Given the description of an element on the screen output the (x, y) to click on. 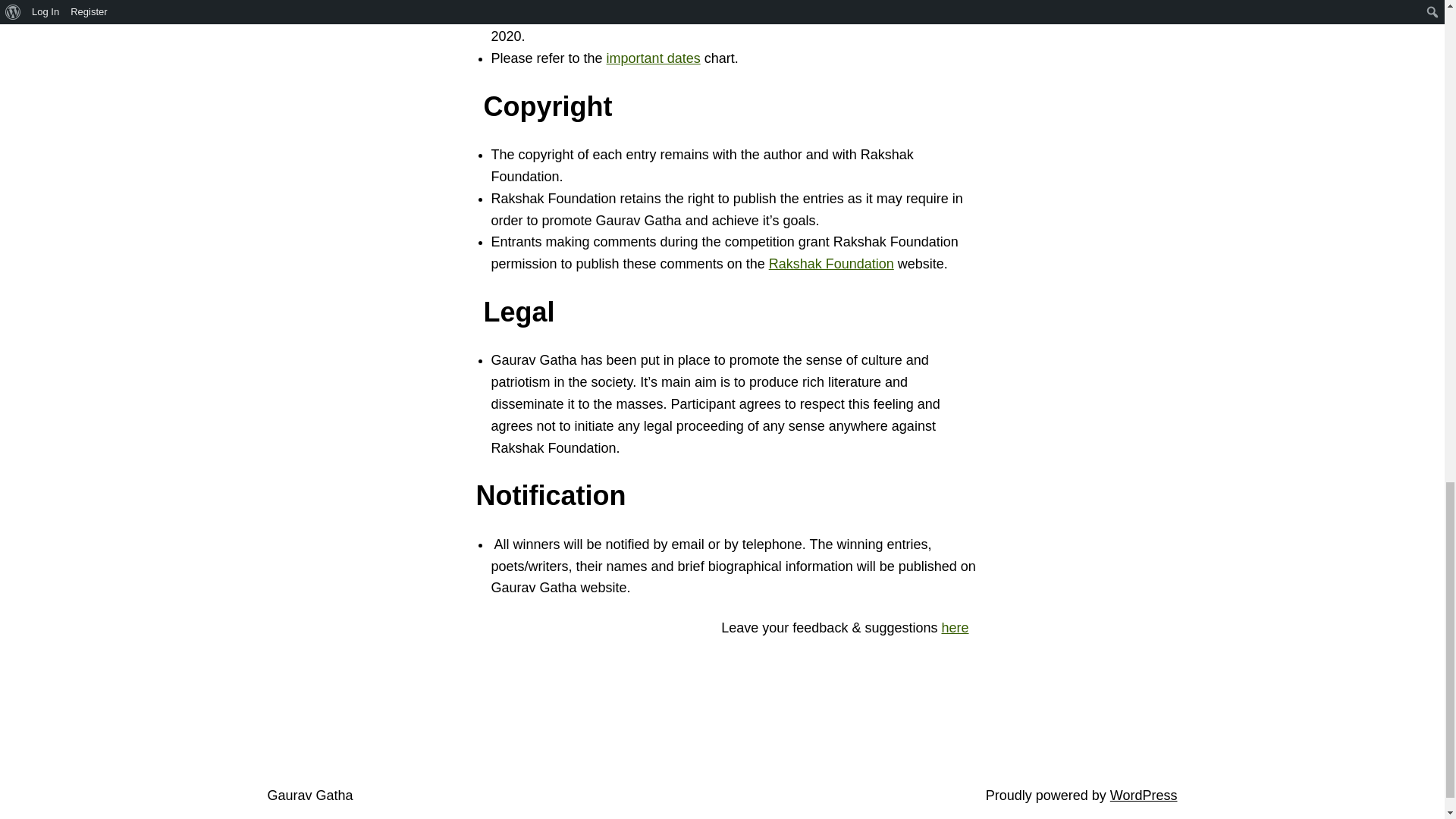
Rakshak Foundation (830, 263)
Gaurav Gatha (309, 795)
Rakshak Foundation (830, 263)
here (954, 627)
Feedback Page (954, 627)
WordPress (1143, 795)
important dates (653, 58)
Important Dates (653, 58)
